Given the description of an element on the screen output the (x, y) to click on. 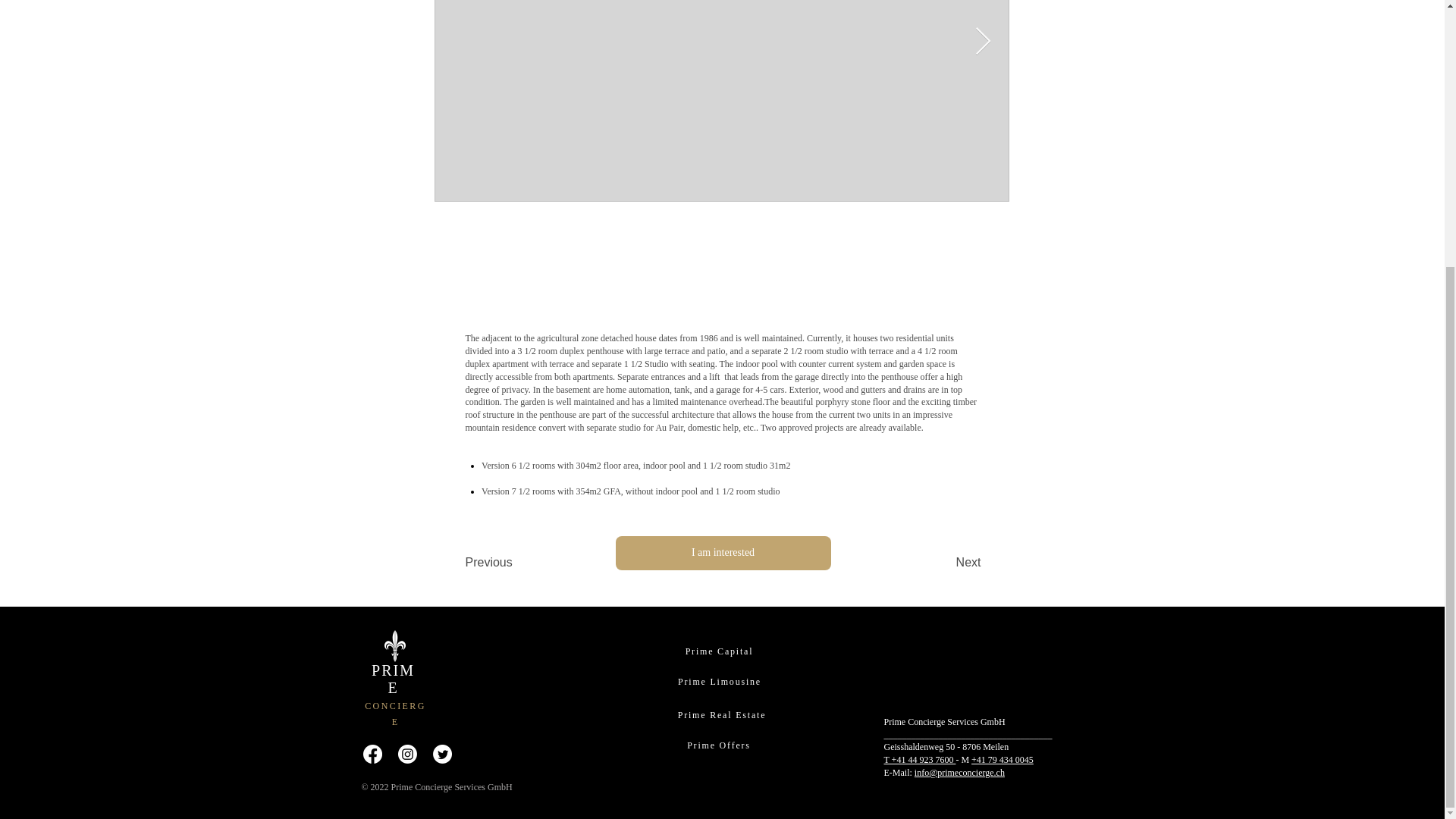
Prime Real Estate (721, 716)
Previous (515, 562)
I am interested (723, 553)
Prime Capital (719, 652)
Prime Offers (719, 746)
Prime Limousine (719, 682)
Next (943, 562)
